Given the description of an element on the screen output the (x, y) to click on. 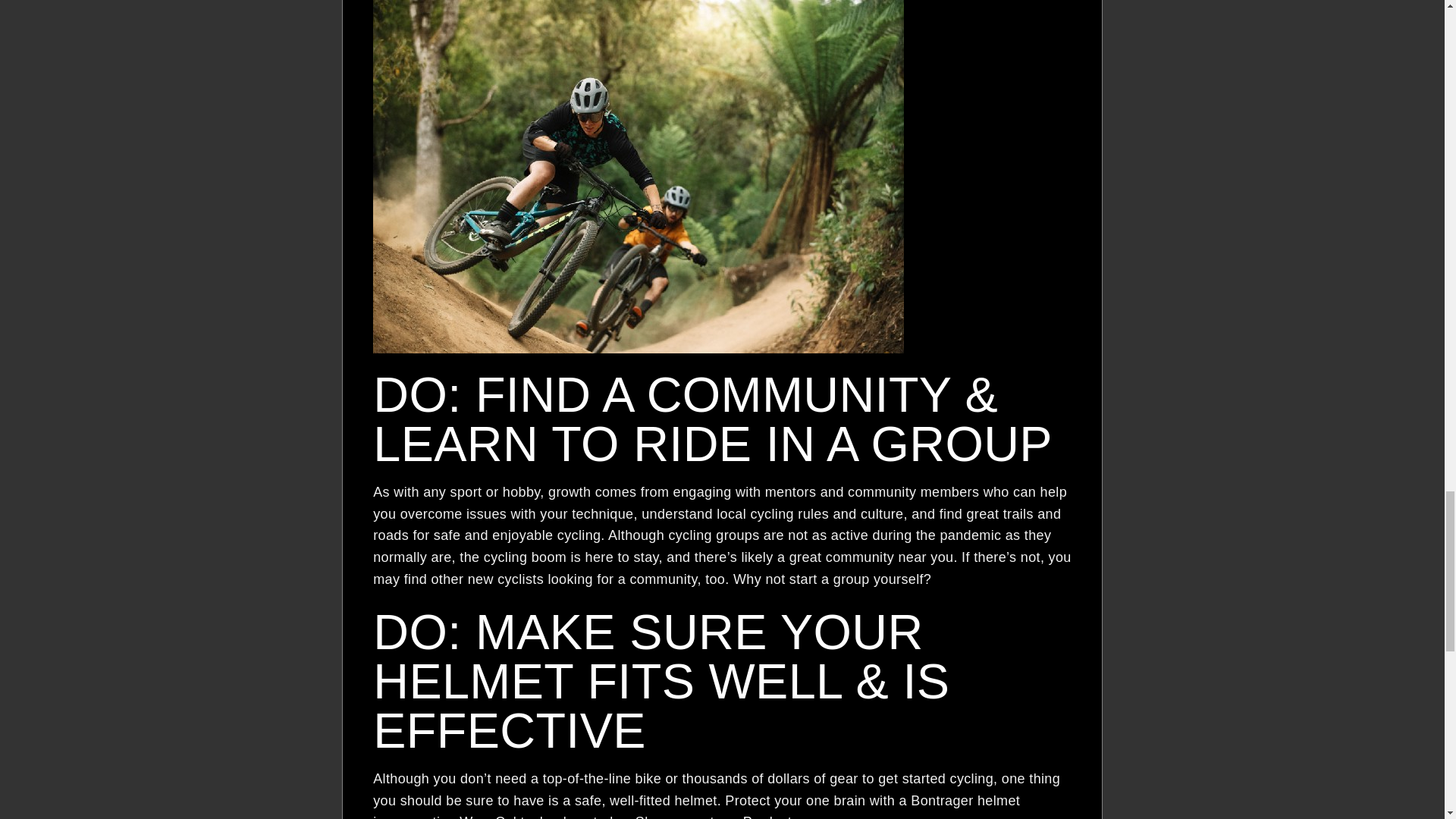
Products page (788, 816)
